Given the description of an element on the screen output the (x, y) to click on. 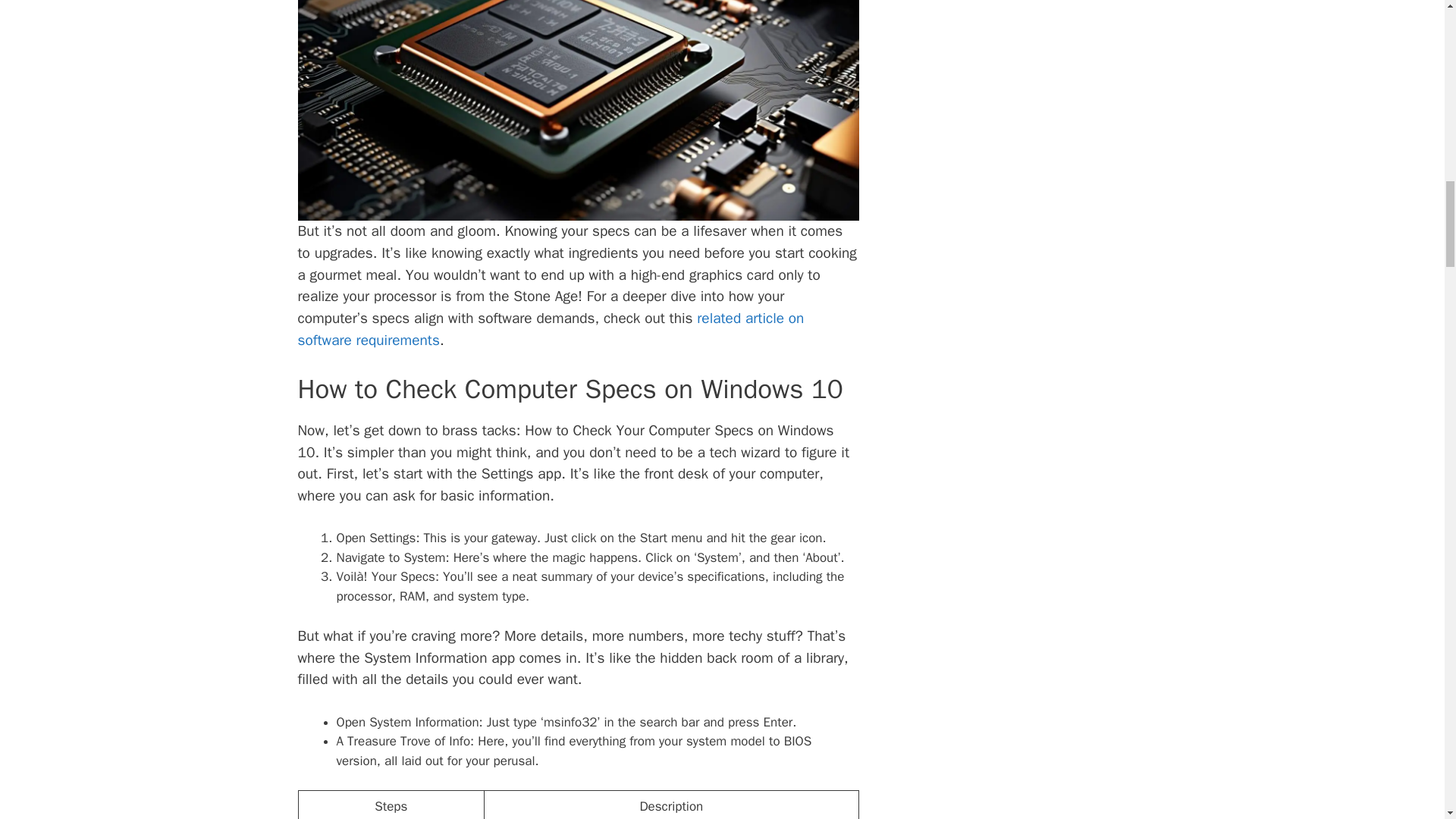
related article on software requirements (550, 329)
